Given the description of an element on the screen output the (x, y) to click on. 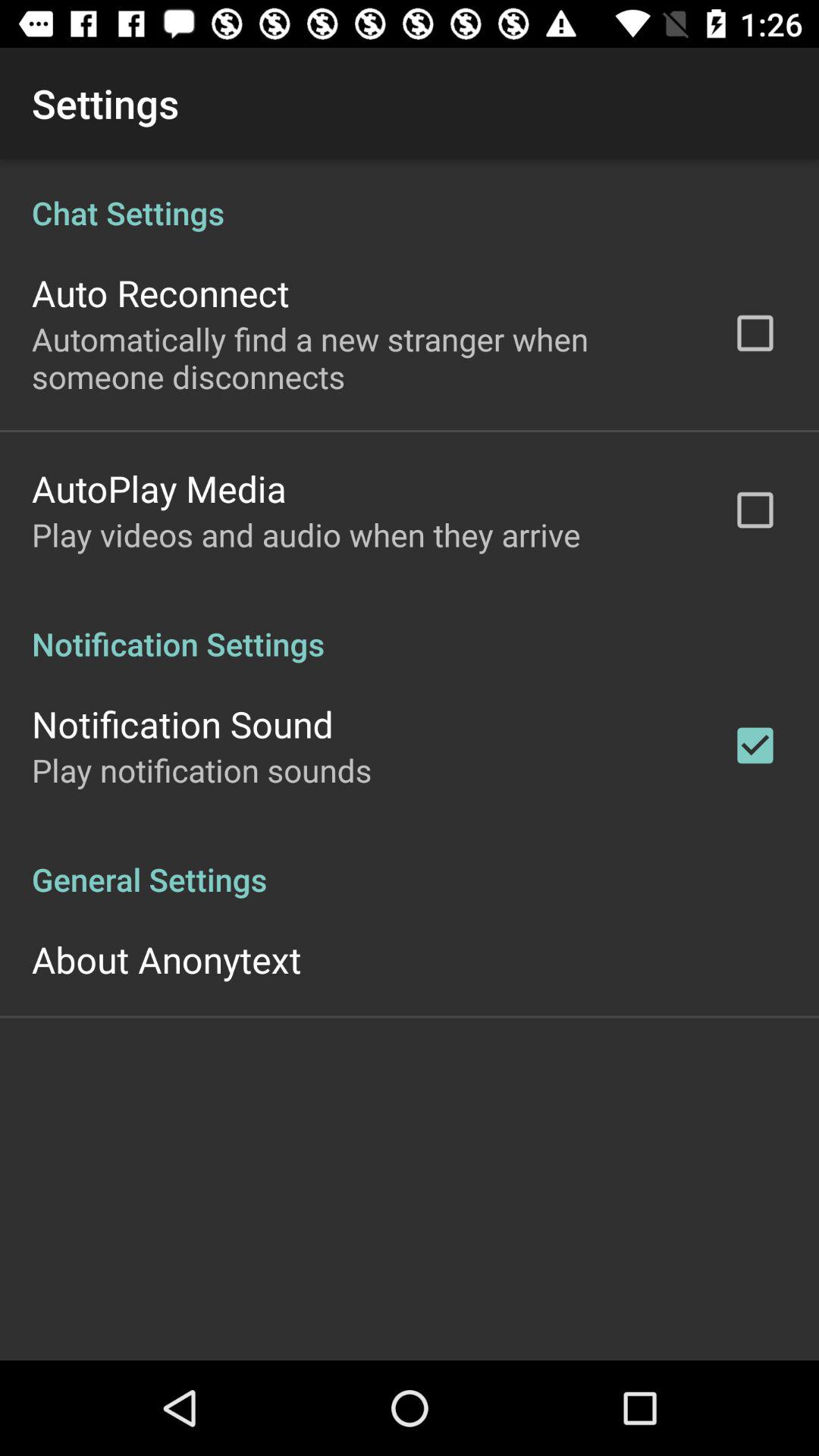
turn off icon below auto reconnect icon (361, 357)
